Given the description of an element on the screen output the (x, y) to click on. 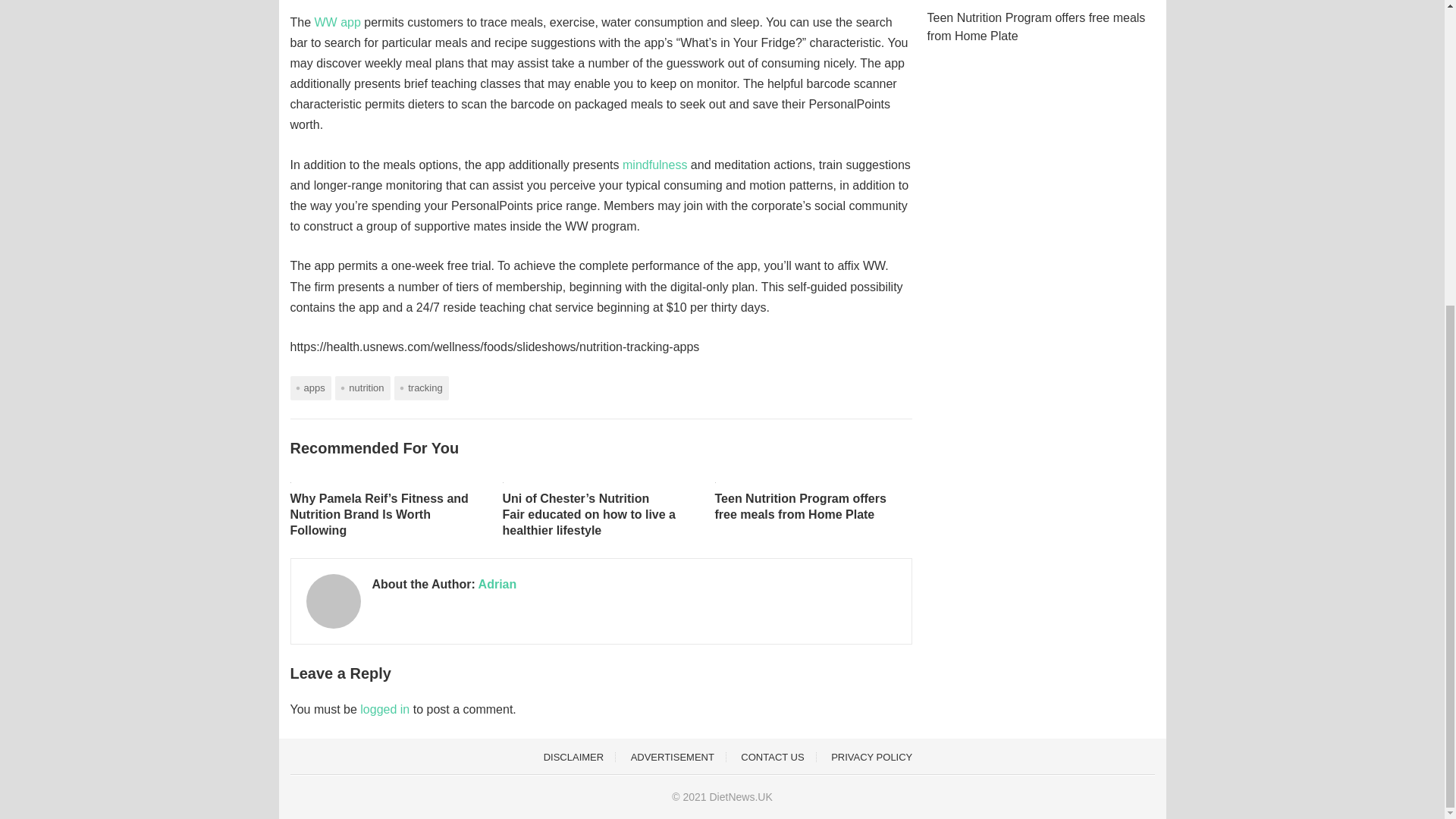
apps (309, 387)
WW app (337, 21)
tracking (421, 387)
nutrition (362, 387)
mindfulness (655, 164)
